Given the description of an element on the screen output the (x, y) to click on. 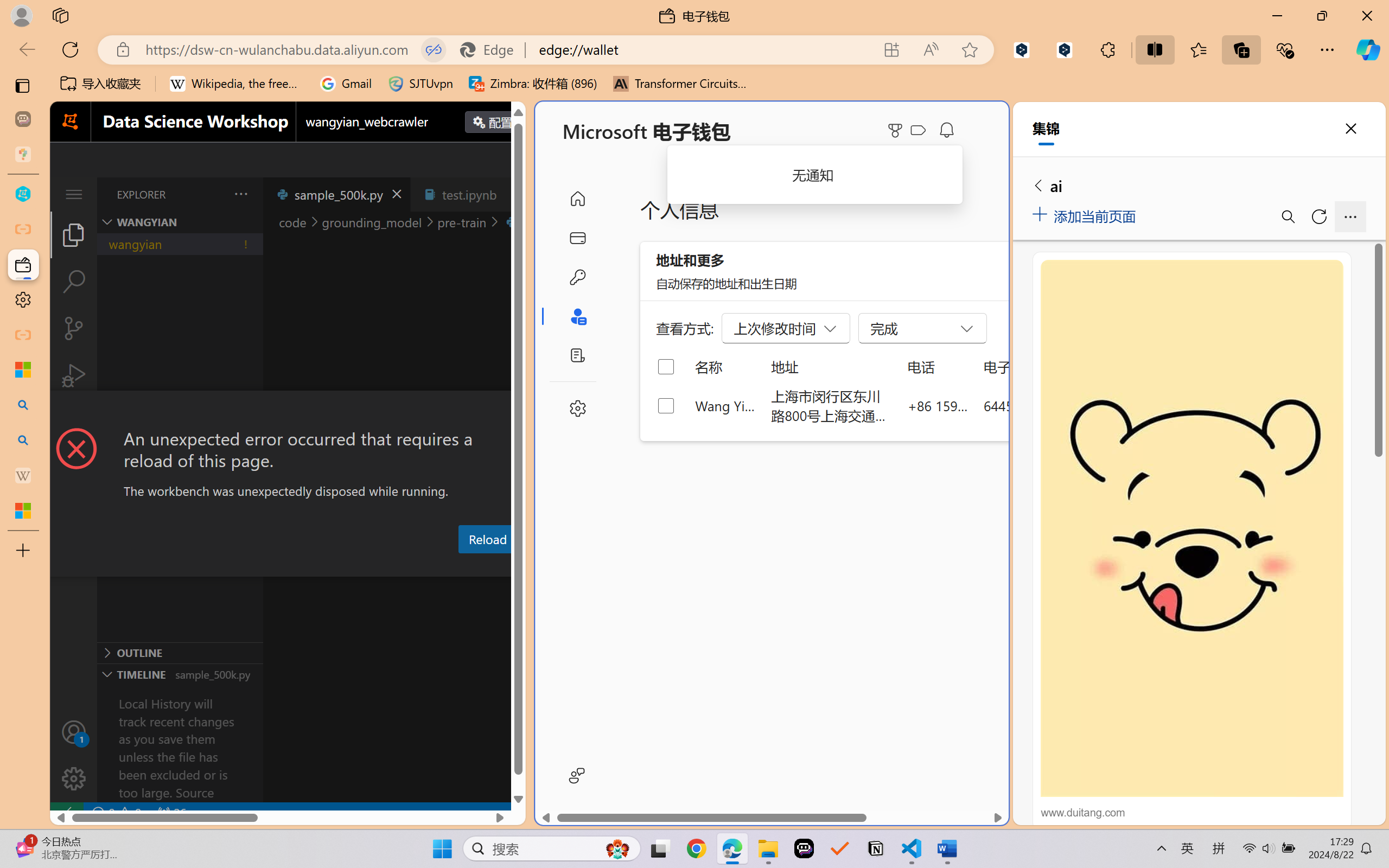
Microsoft Cashback (920, 130)
Application Menu (73, 194)
Class: ___1lmltc5 f1agt3bx f12qytpq (917, 130)
Copilot (Ctrl+Shift+.) (1368, 49)
No Problems (115, 812)
Microsoft security help and learning (22, 369)
